Given the description of an element on the screen output the (x, y) to click on. 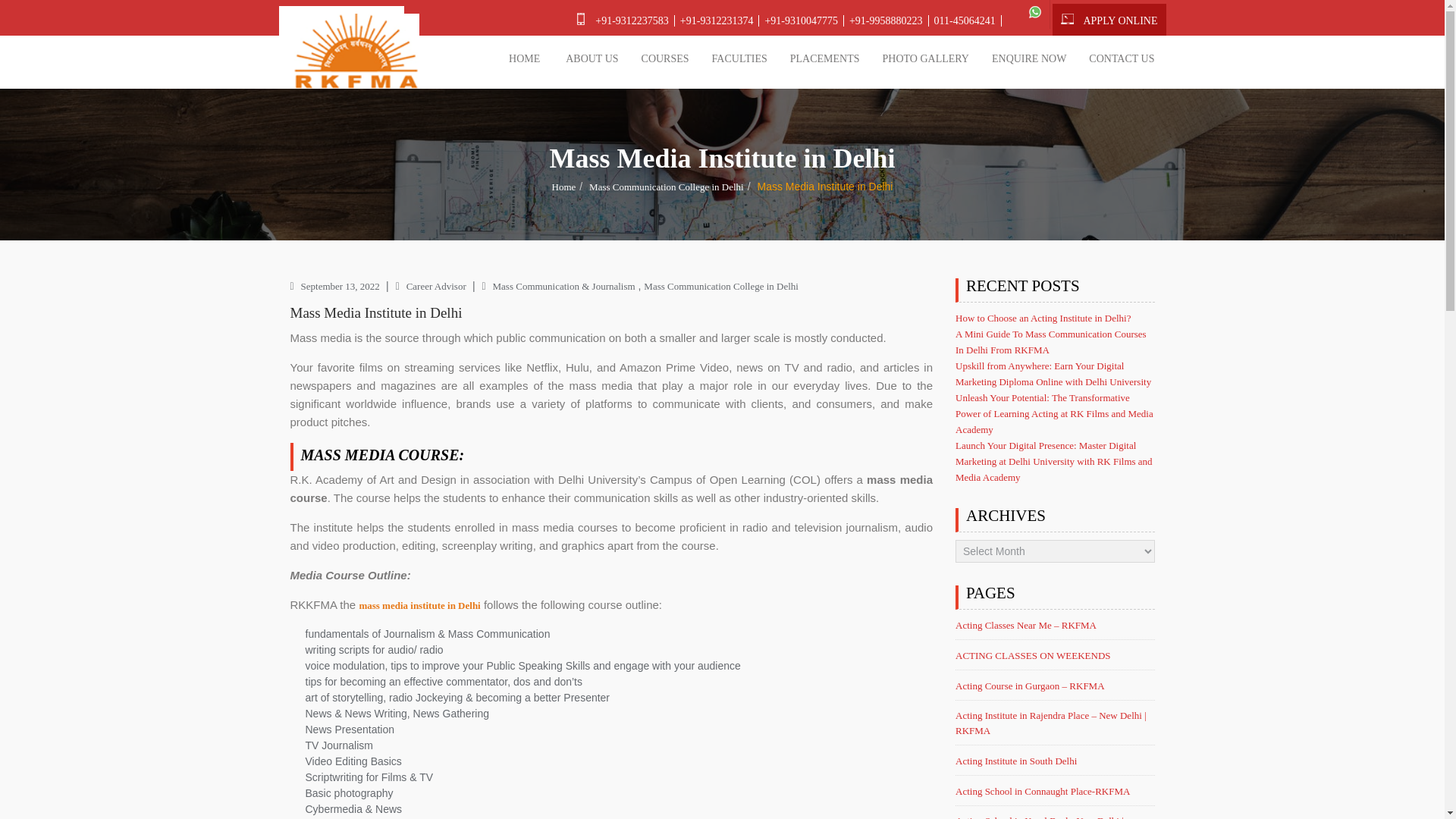
011-45064241 (964, 20)
COURSES (665, 59)
mass media institute in Delhi (419, 604)
Home (563, 186)
Mass Communication College in Delhi (666, 186)
RKFMA (356, 58)
HOME (524, 59)
FACULTIES (739, 59)
PHOTO GALLERY (924, 59)
ENQUIRE NOW (1028, 59)
APPLY ONLINE (1120, 20)
PLACEMENTS (824, 59)
September 13, 2022 (341, 285)
CONTACT US (1121, 59)
Mass Communication College in Delhi (720, 285)
